Given the description of an element on the screen output the (x, y) to click on. 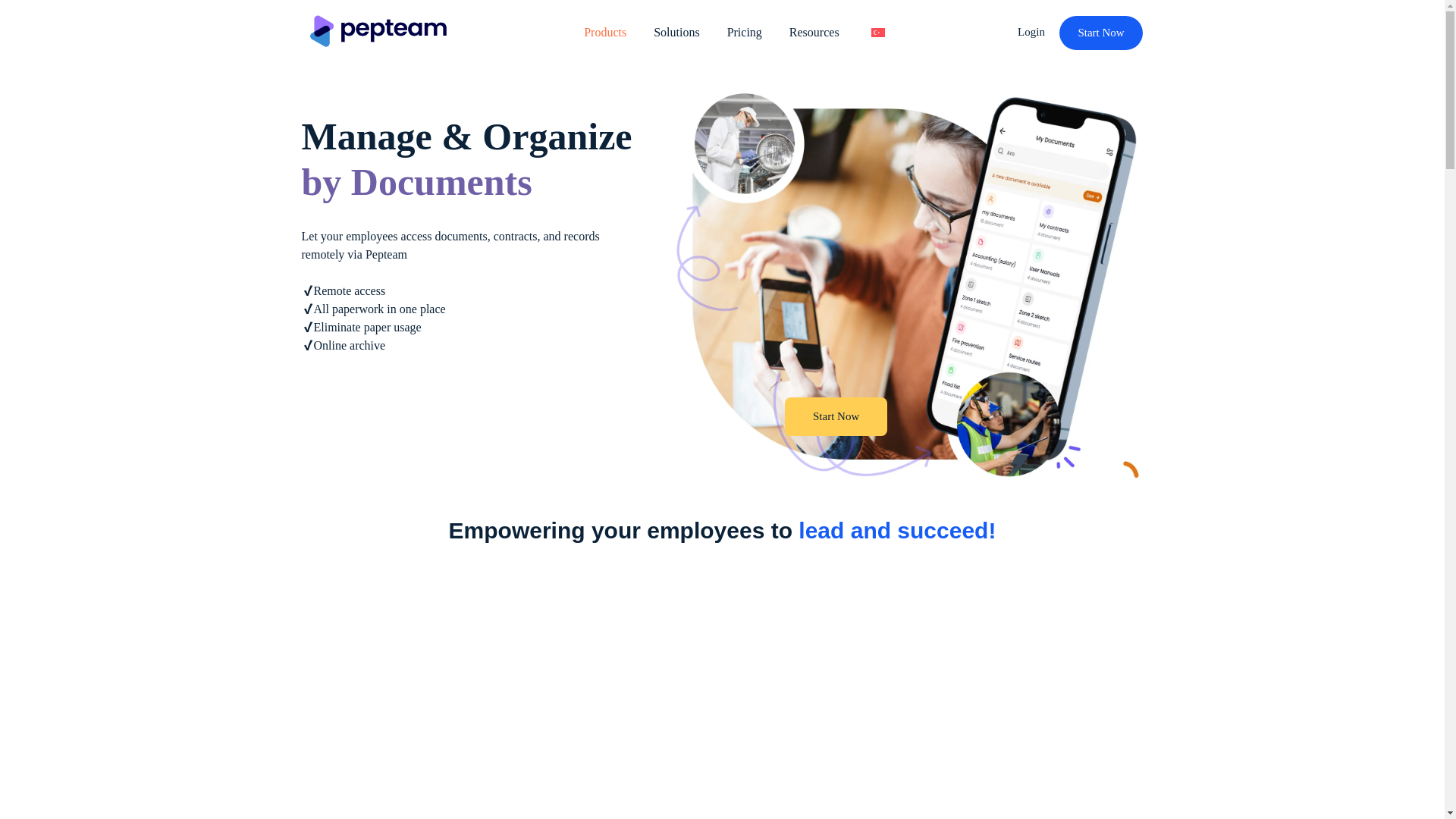
Products (604, 32)
Products (604, 32)
Start Now (1100, 32)
Resources (814, 32)
Solutions (675, 32)
Login (1032, 31)
Start Now (835, 416)
Solutions (675, 32)
Pricing (744, 32)
